Given the description of an element on the screen output the (x, y) to click on. 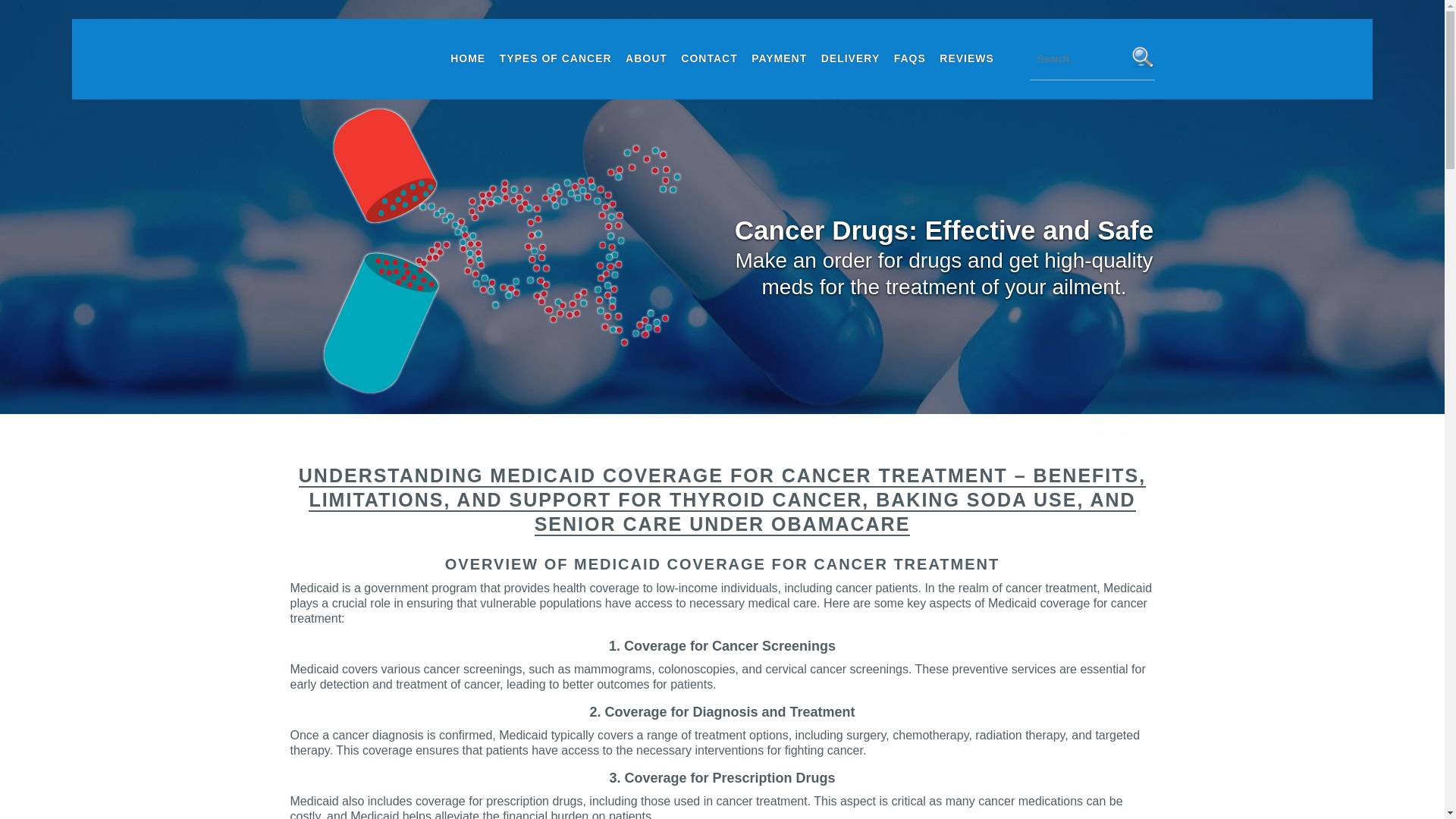
PAYMENT (778, 58)
TYPES OF CANCER (556, 58)
HOME (467, 58)
ABOUT (646, 58)
CONTACT (708, 58)
DELIVERY (850, 58)
REVIEWS (966, 58)
FAQS (909, 58)
